Given the description of an element on the screen output the (x, y) to click on. 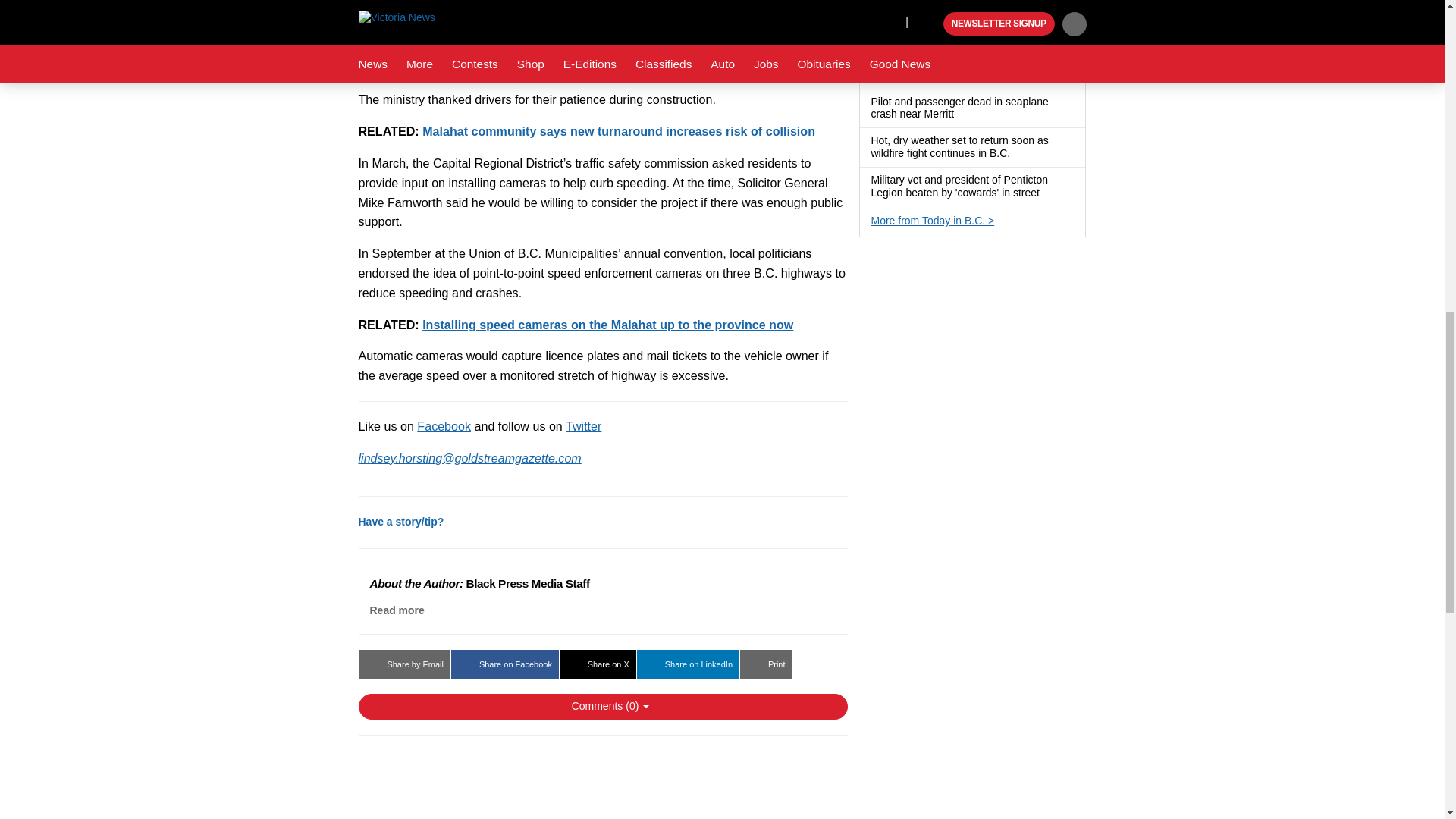
Has a gallery (1021, 36)
Show Comments (602, 706)
